Given the description of an element on the screen output the (x, y) to click on. 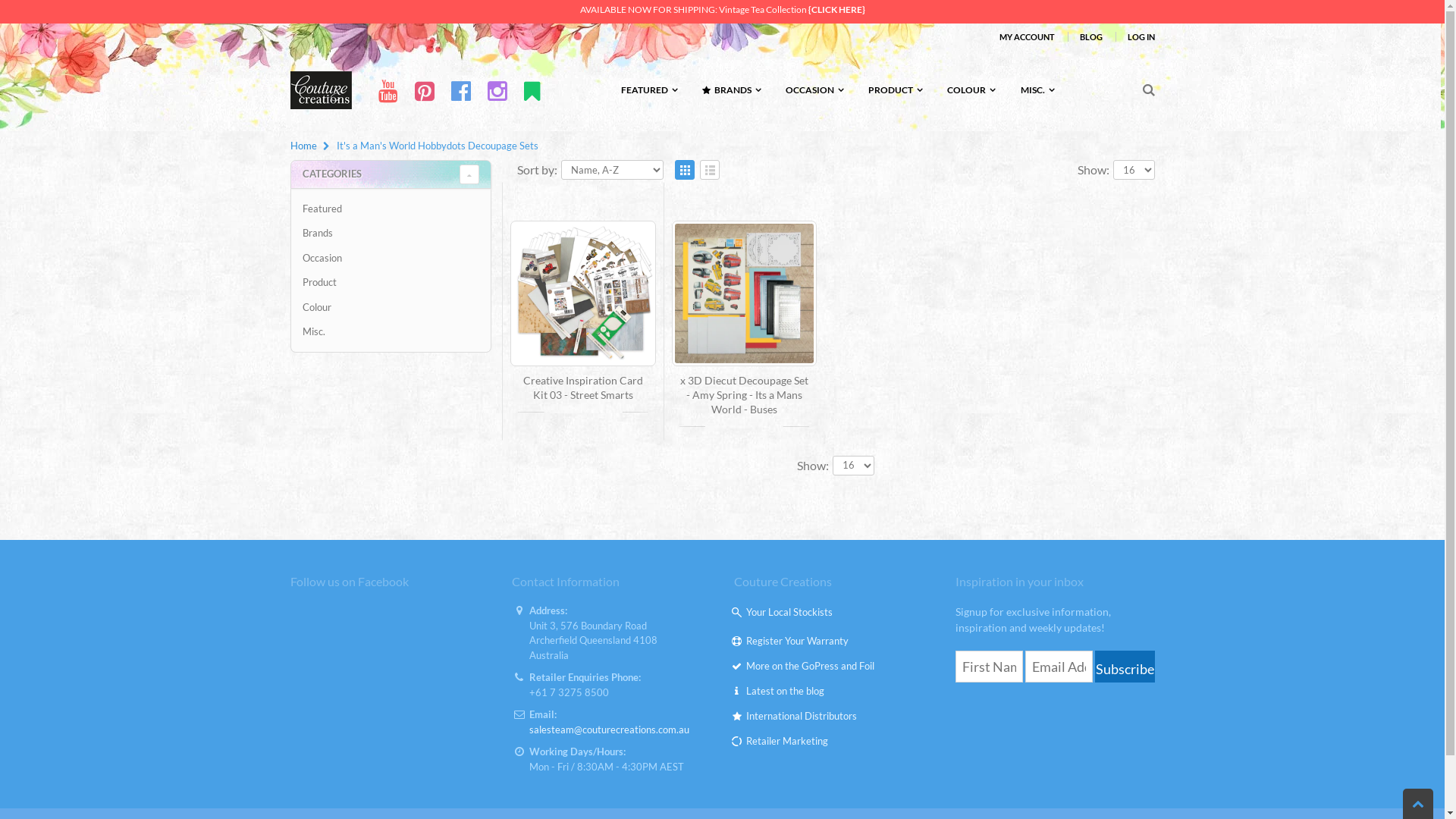
Brands Element type: text (390, 232)
Subscribe Element type: text (1124, 666)
MY ACCOUNT Element type: text (1026, 36)
BLOG Element type: text (1090, 36)
Colour Element type: text (390, 307)
Retailer Marketing Element type: text (787, 740)
Occasion Element type: text (390, 257)
COLOUR Element type: text (969, 90)
International Distributors Element type: text (801, 715)
PRODUCT Element type: text (893, 90)
Your Local Stockists Element type: text (789, 611)
Latest on the blog Element type: text (785, 690)
MISC. Element type: text (1035, 90)
Featured Element type: text (390, 208)
FEATURED Element type: text (648, 90)
Home Element type: text (302, 145)
Register Your Warranty Element type: text (797, 640)
Product Element type: text (390, 281)
Creative Inspiration Card Kit 03 - Street Smarts Element type: text (583, 387)
More on the GoPress and Foil Element type: text (810, 665)
OCCASION Element type: text (812, 90)
salesteam@couturecreations.com.au Element type: text (609, 729)
Misc. Element type: text (390, 331)
BRANDS Element type: text (729, 90)
LOG IN Element type: text (1140, 36)
